Given the description of an element on the screen output the (x, y) to click on. 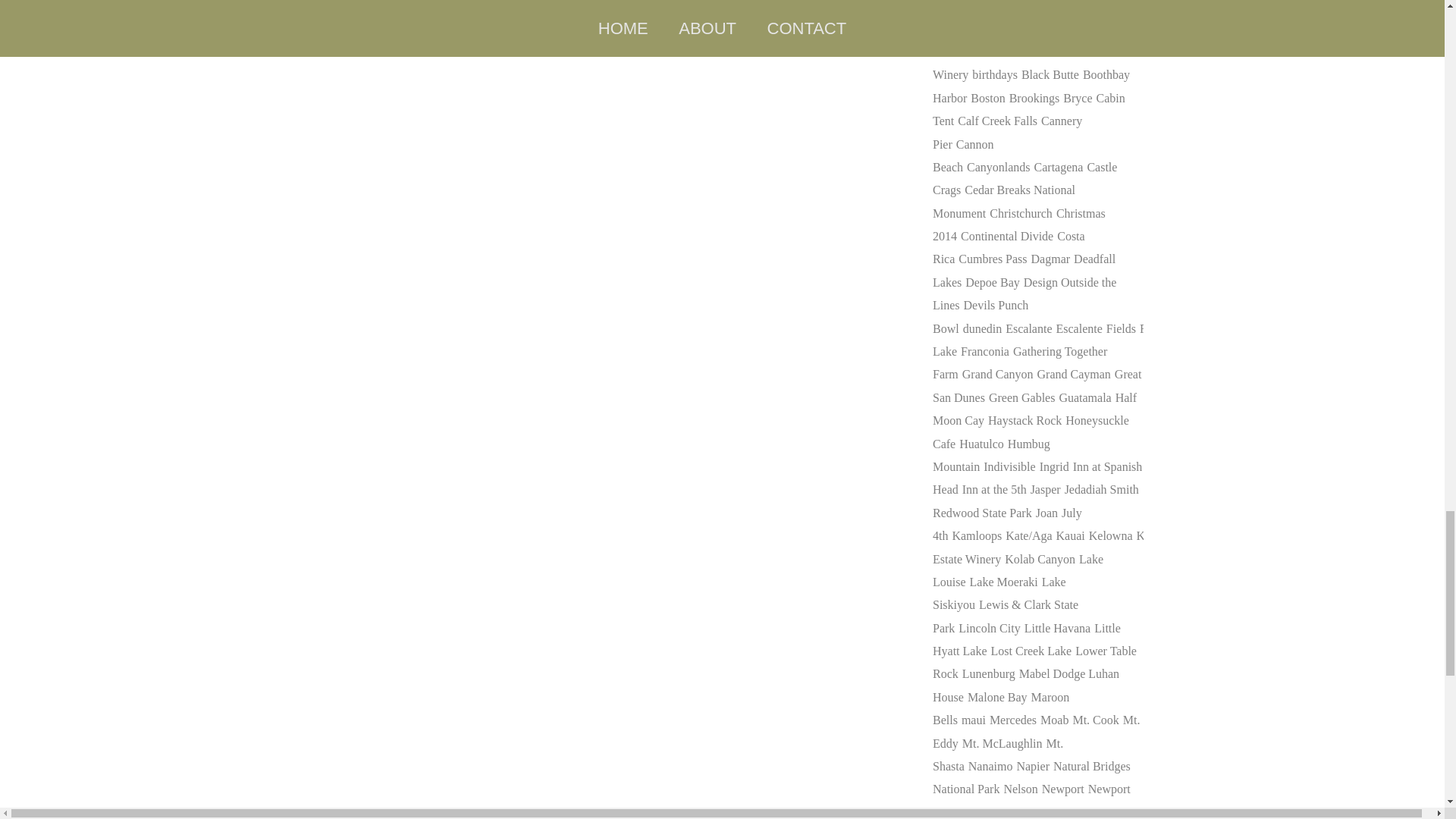
Aspen (1070, 6)
Annapolis Royal (1011, 6)
Banff (981, 51)
Cannery Pier (1007, 131)
Boothbay Harbor (1031, 85)
Brookings (1034, 97)
Black Butte (1050, 74)
Cabin Tent (1029, 109)
Auckland (991, 29)
Astoria Tower (1029, 17)
Arches Natl. Park (1008, 6)
birthdays (994, 74)
Bandon Dunes Golf Resort (1024, 40)
Benton Lane Winery (997, 63)
Bryce (1077, 97)
